Given the description of an element on the screen output the (x, y) to click on. 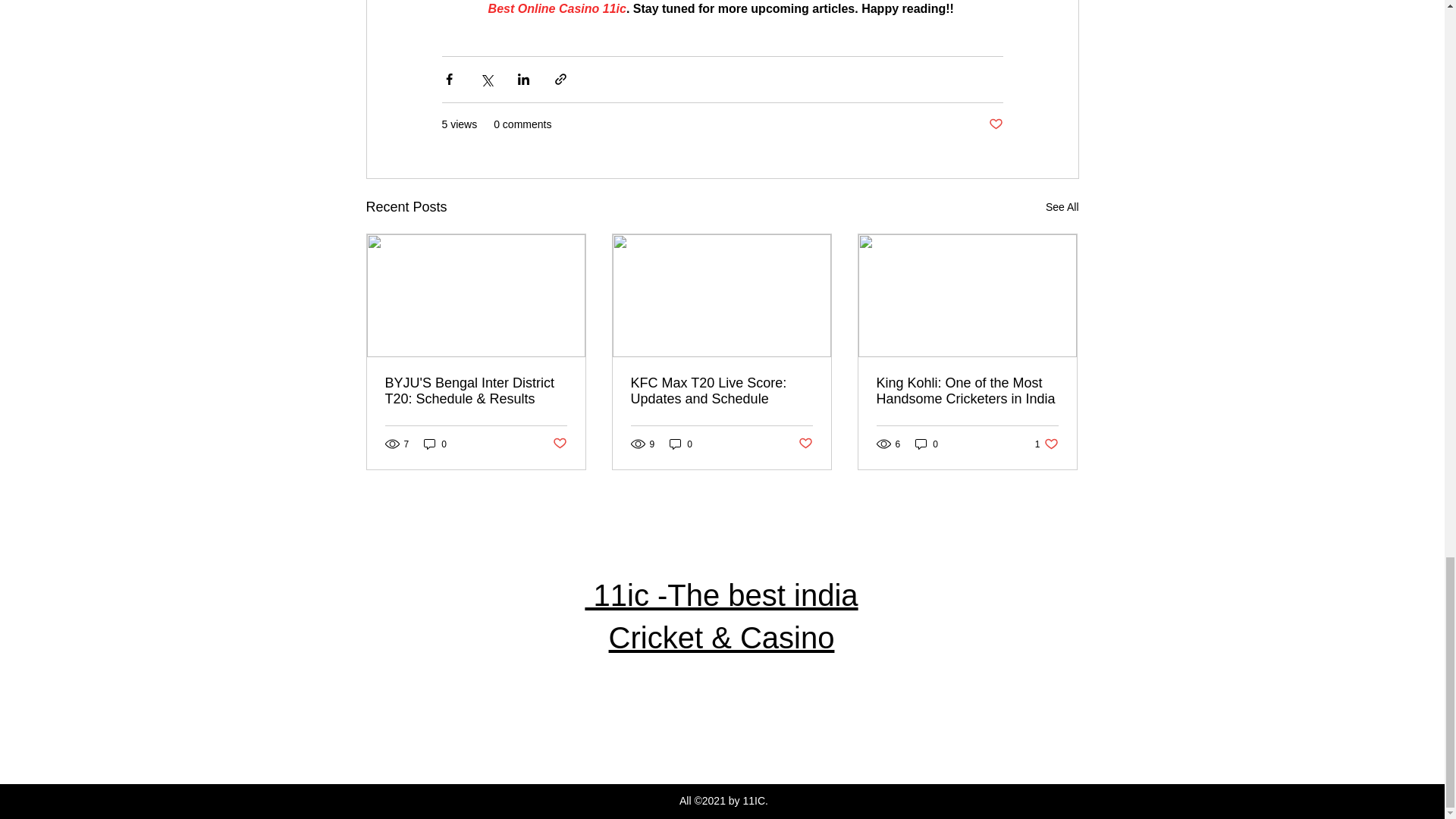
Post not marked as liked (804, 443)
Best Online Casino 11ic (556, 8)
See All (1061, 207)
King Kohli: One of the Most Handsome Cricketers in India (967, 391)
Post not marked as liked (995, 124)
KFC Max T20 Live Score: Updates and Schedule (1046, 443)
0 (721, 391)
0 (926, 443)
0 (435, 443)
Post not marked as liked (681, 443)
